Given the description of an element on the screen output the (x, y) to click on. 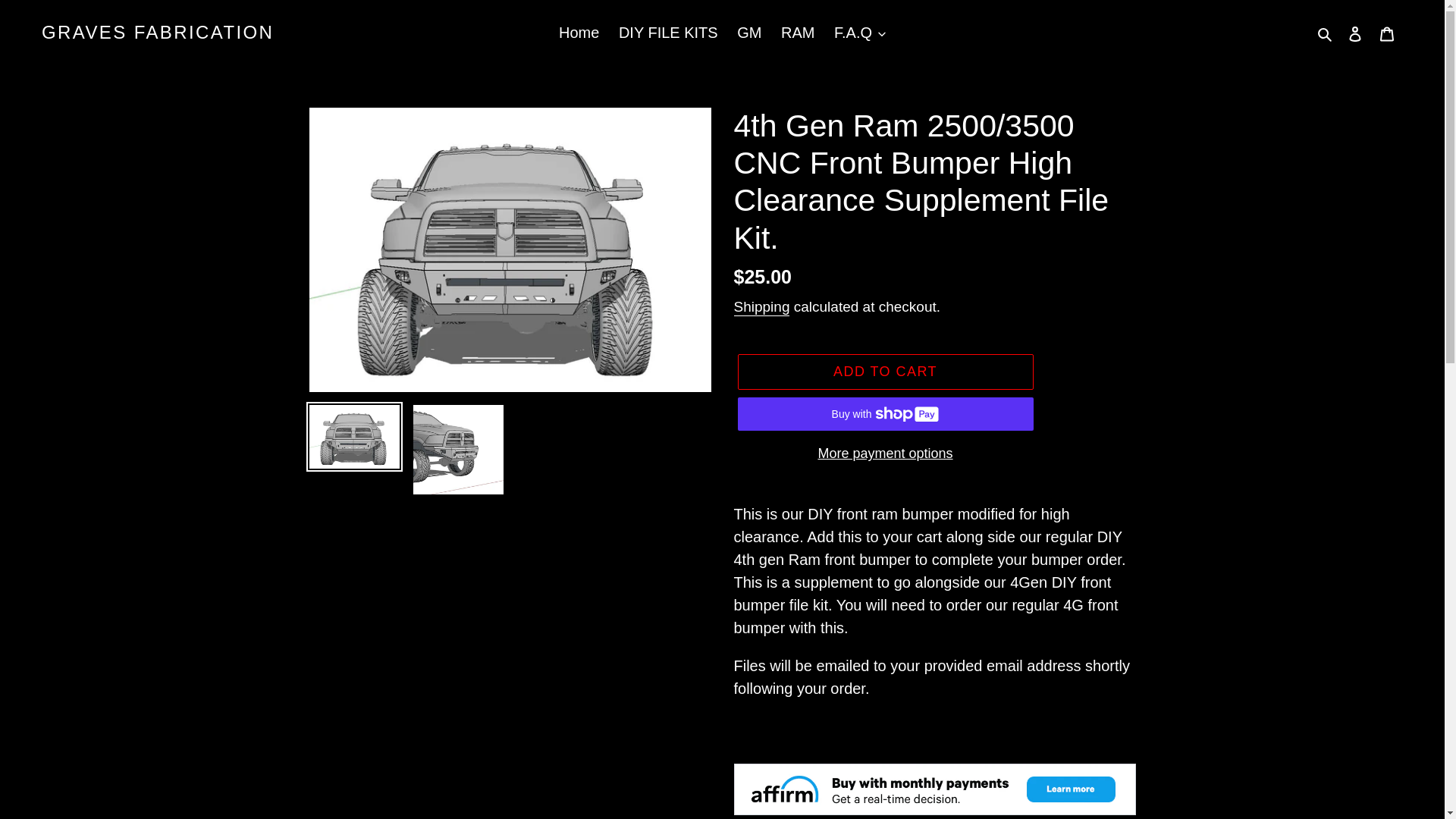
Search (1326, 32)
Home (579, 31)
More payment options (884, 454)
GM (748, 31)
ADD TO CART (884, 371)
GRAVES FABRICATION (157, 33)
Shipping (761, 307)
DIY FILE KITS (668, 31)
F.A.Q (860, 31)
RAM (797, 31)
